Given the description of an element on the screen output the (x, y) to click on. 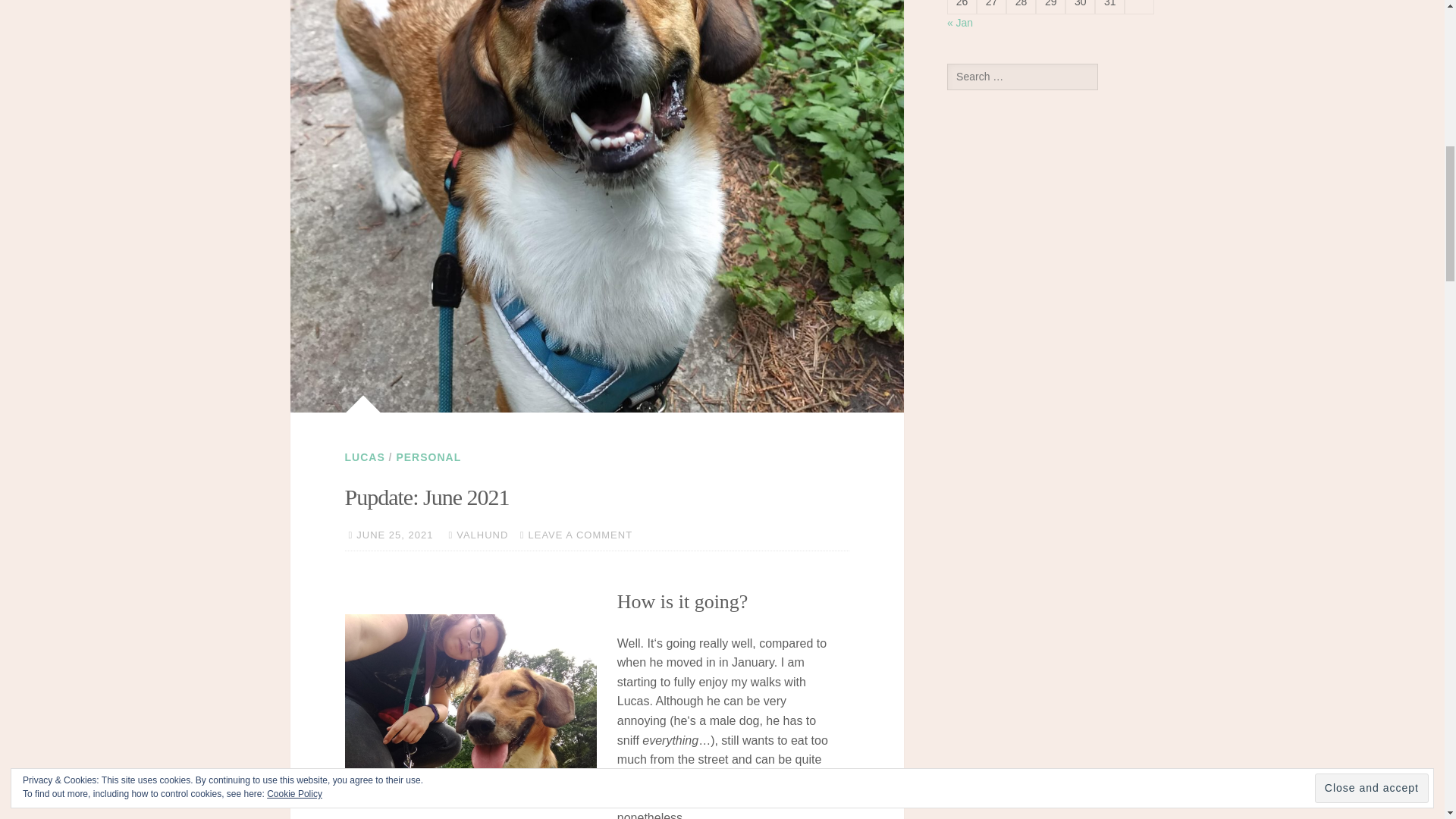
PERSONAL (428, 457)
VALHUND (482, 534)
LEAVE A COMMENT (579, 534)
JUNE 25, 2021 (394, 534)
LUCAS (363, 457)
